Given the description of an element on the screen output the (x, y) to click on. 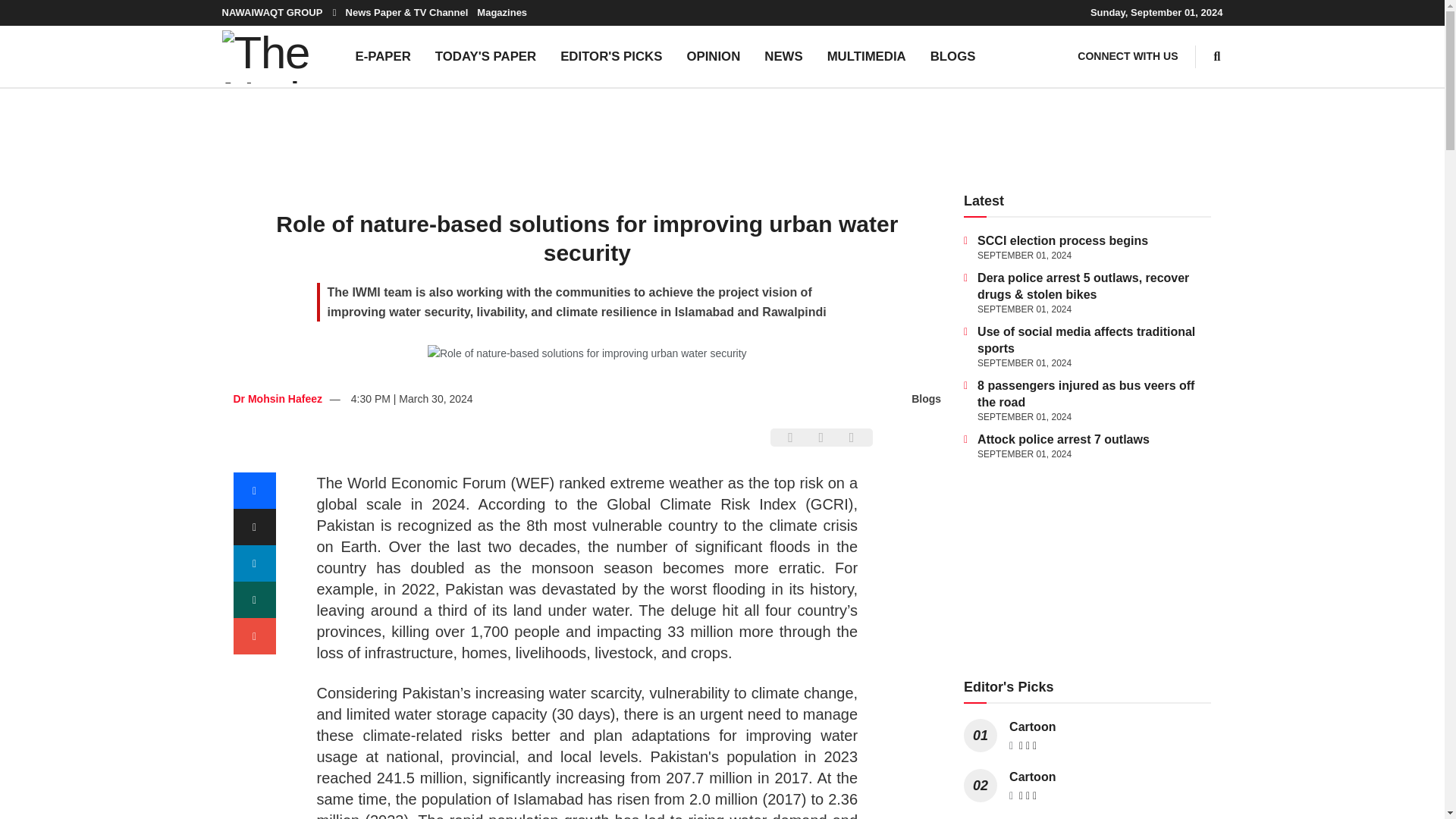
OPINION (713, 55)
NEWS (782, 55)
E-PAPER (382, 55)
EDITOR'S PICKS (611, 55)
BLOGS (953, 55)
Magazines (502, 12)
MULTIMEDIA (866, 55)
TODAY'S PAPER (485, 55)
